Given the description of an element on the screen output the (x, y) to click on. 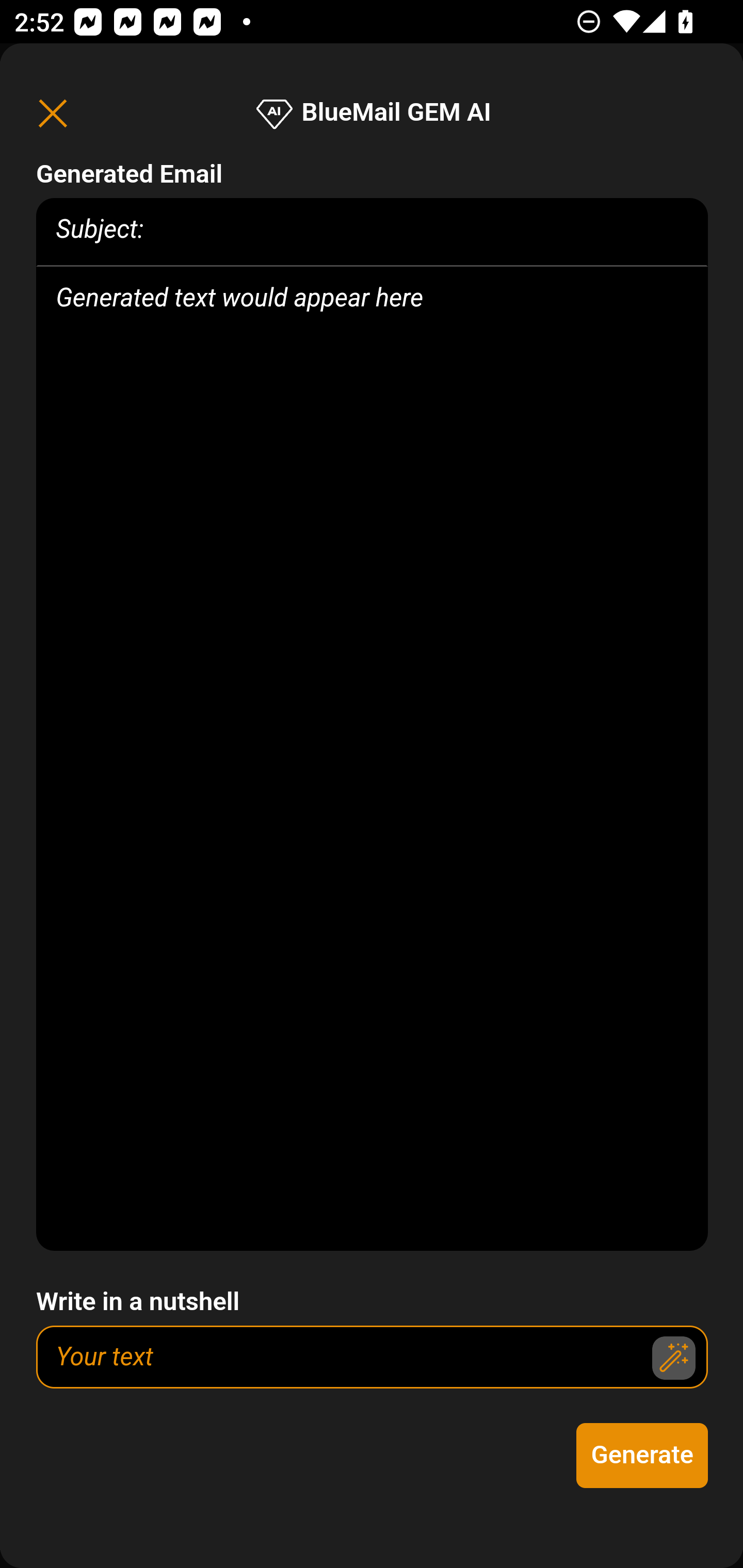
Generate (642, 1455)
